Given the description of an element on the screen output the (x, y) to click on. 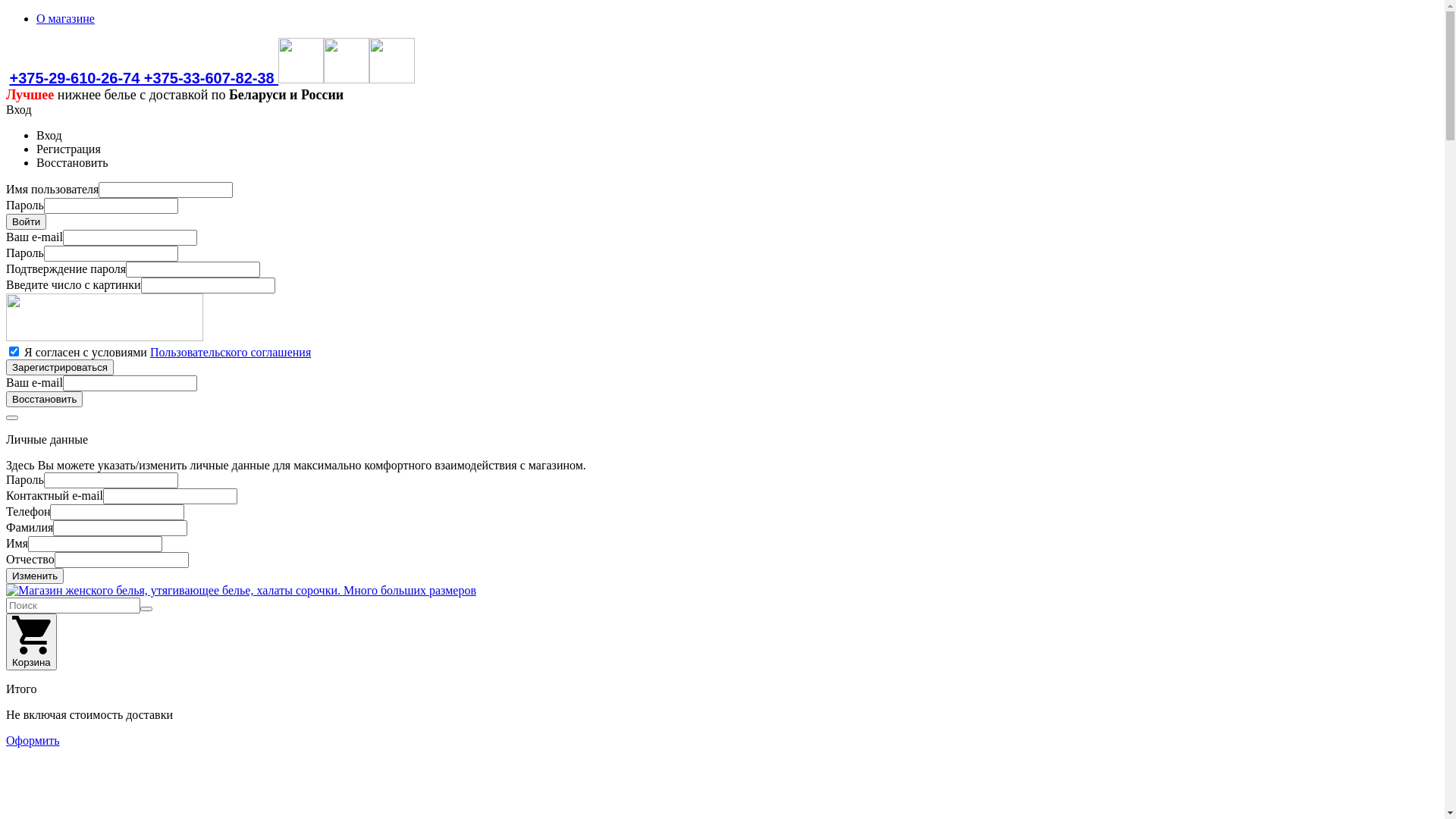
 +375-33-607-82-38  Element type: text (208, 77)
+375-29-6 Element type: text (43, 77)
Viber Element type: hover (300, 77)
WhatsApp Element type: hover (346, 77)
10-26-74 Element type: text (108, 77)
